Given the description of an element on the screen output the (x, y) to click on. 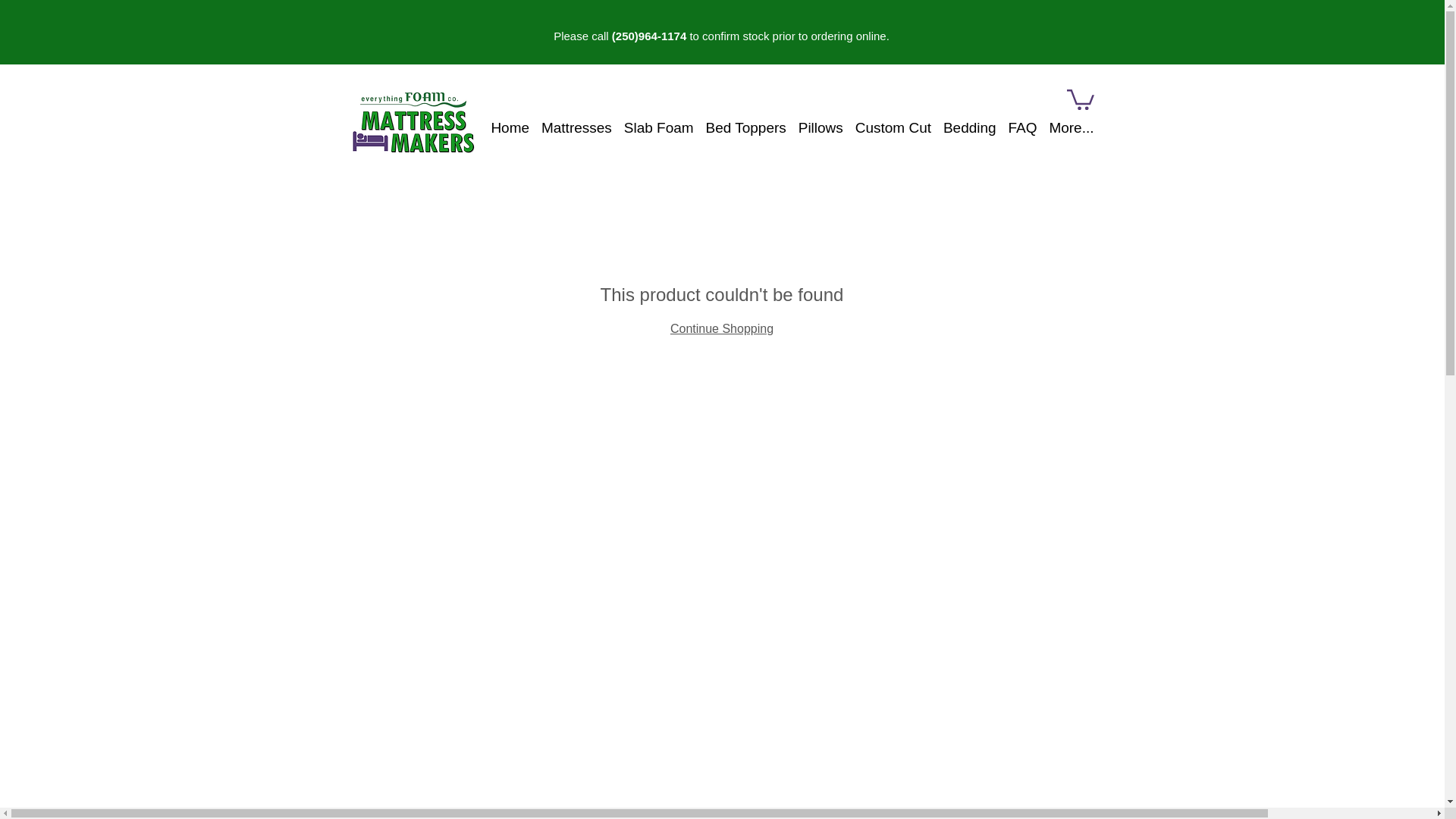
Mattresses (570, 128)
Slab Foam (652, 128)
Bed Toppers (740, 128)
Home (504, 128)
FAQ (1015, 128)
Bedding (963, 128)
Pillows (814, 128)
Custom Cut (887, 128)
